Given the description of an element on the screen output the (x, y) to click on. 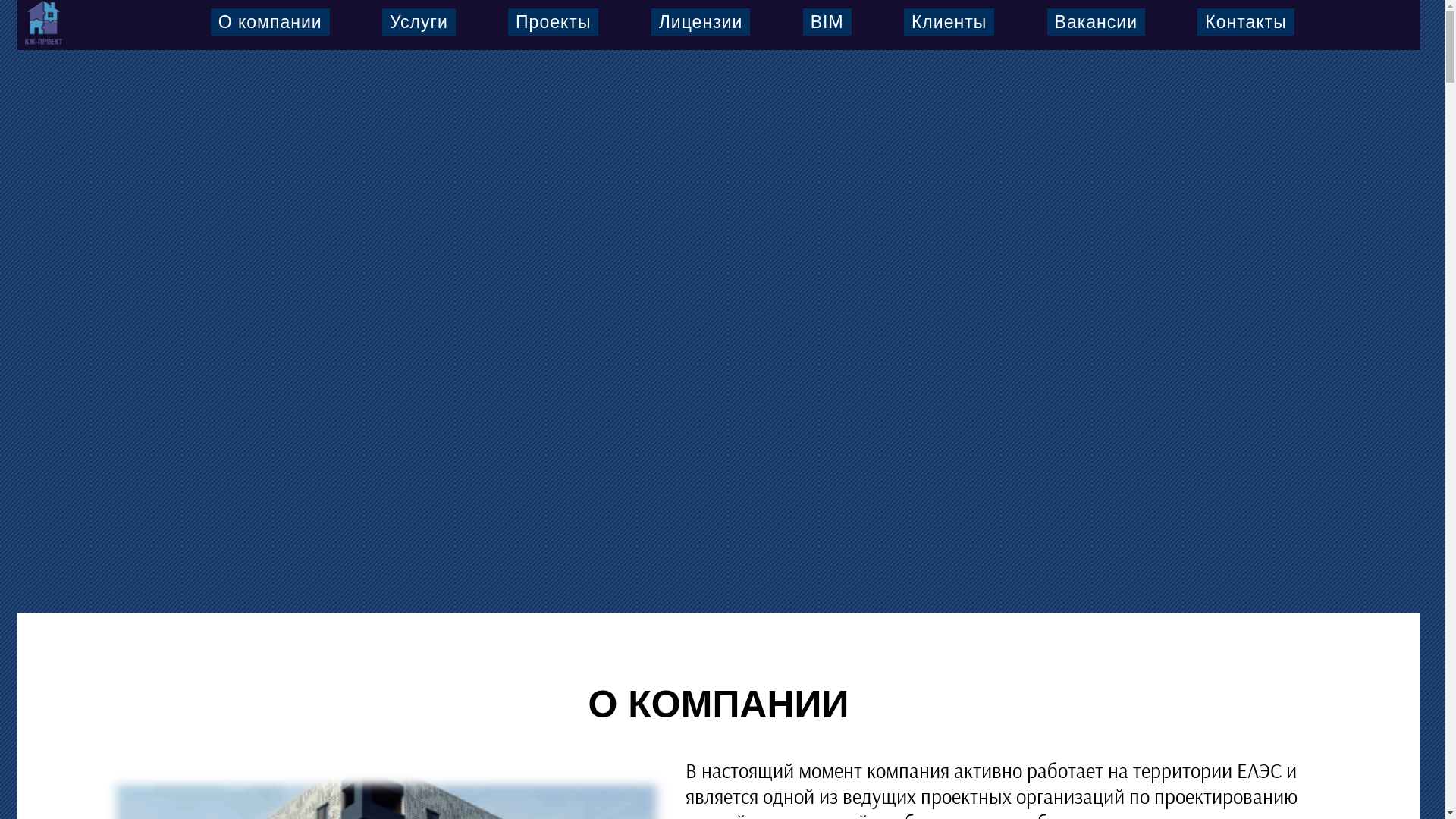
BIM Element type: text (827, 21)
